Given the description of an element on the screen output the (x, y) to click on. 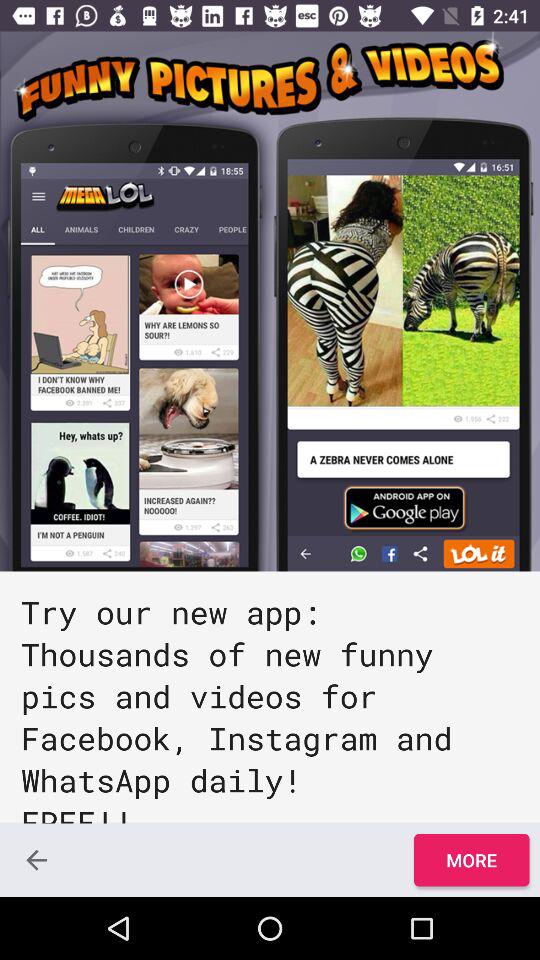
turn on try our new (270, 697)
